Given the description of an element on the screen output the (x, y) to click on. 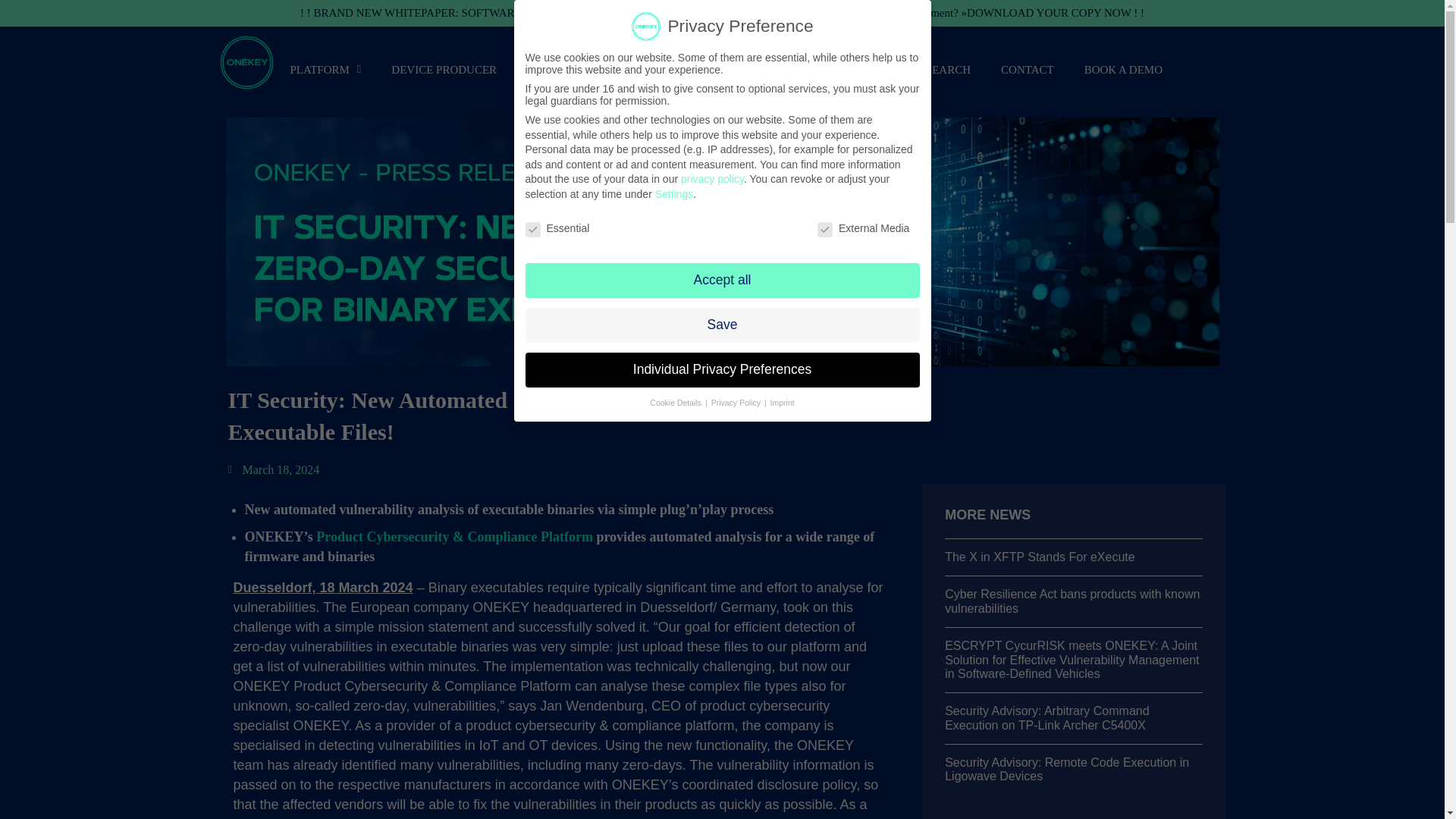
NEWS (864, 68)
PLATFORM (325, 68)
CONSULTING (695, 68)
DEVICE PRODUCER (443, 68)
COMPANY (791, 68)
DEVICE OPERATOR (578, 68)
BOOK A DEMO (1122, 68)
CONTACT (1026, 68)
RESEARCH (940, 68)
